Given the description of an element on the screen output the (x, y) to click on. 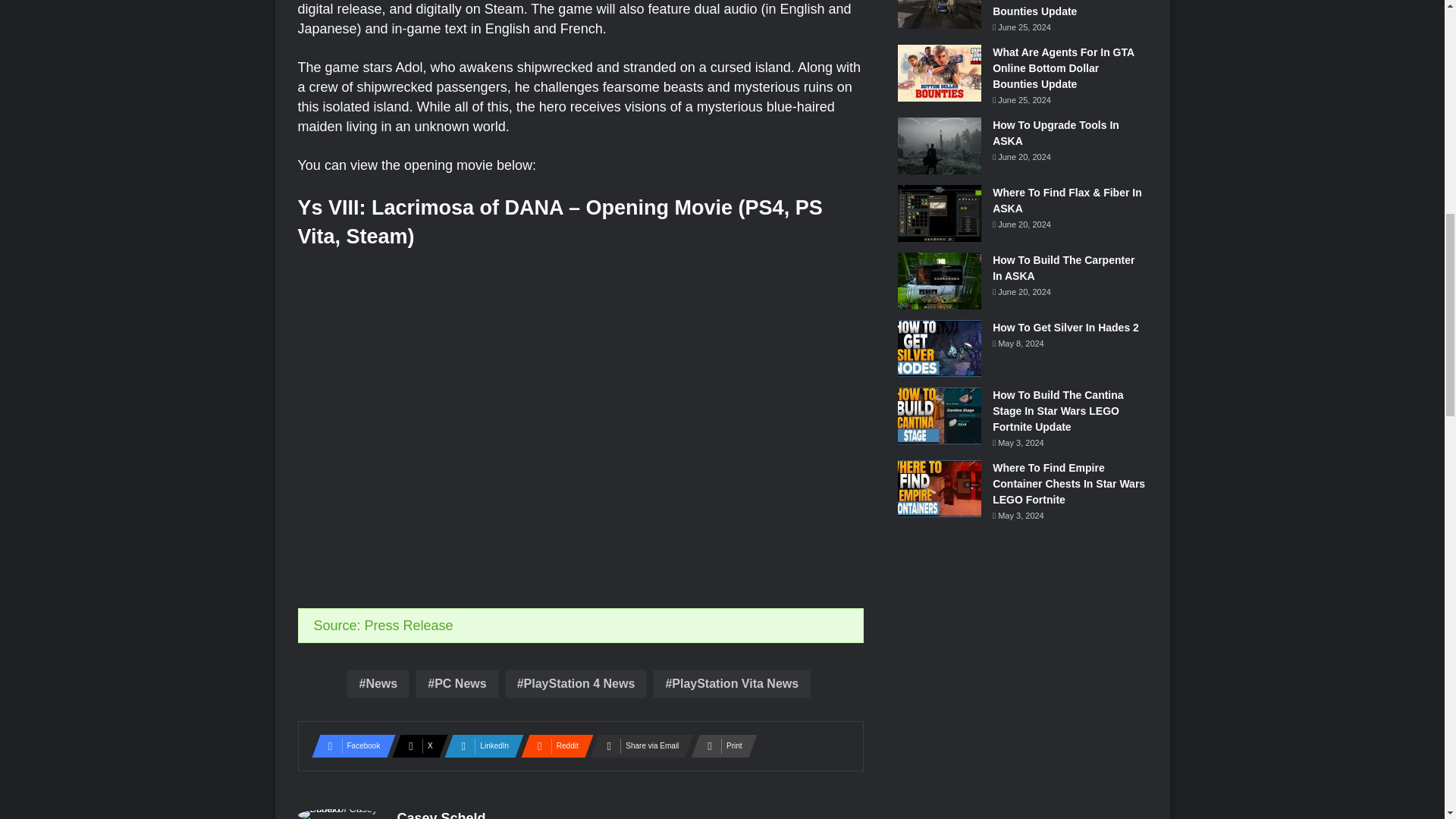
PlayStation Vita News (731, 683)
PC News (455, 683)
PlayStation 4 News (576, 683)
News (377, 683)
